Given the description of an element on the screen output the (x, y) to click on. 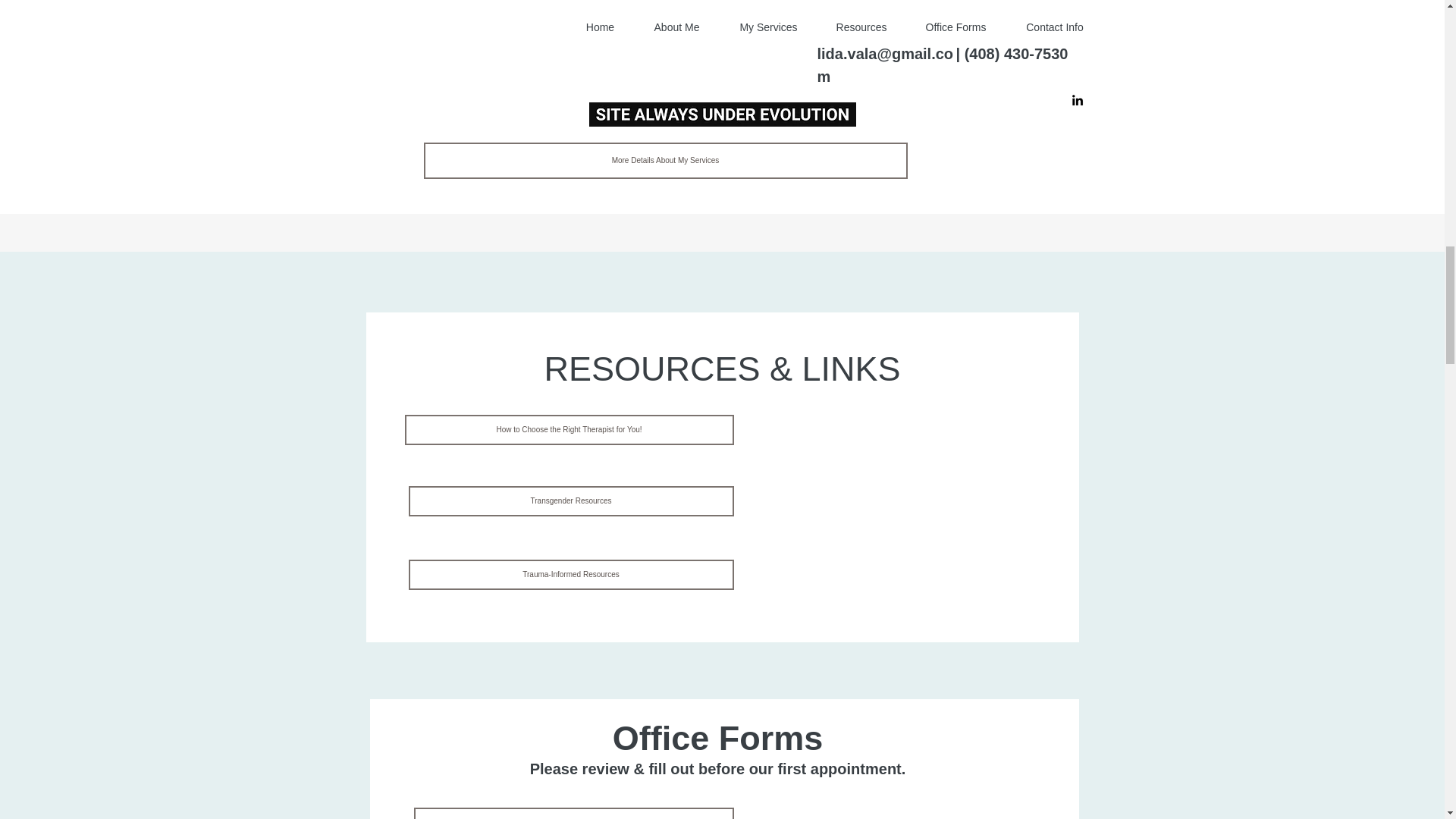
Trauma-Informed Resources (570, 574)
Transgender Resources (570, 501)
How to Choose the Right Therapist for You! (568, 429)
Intake Form (573, 813)
More Details About My Services (665, 160)
